Given the description of an element on the screen output the (x, y) to click on. 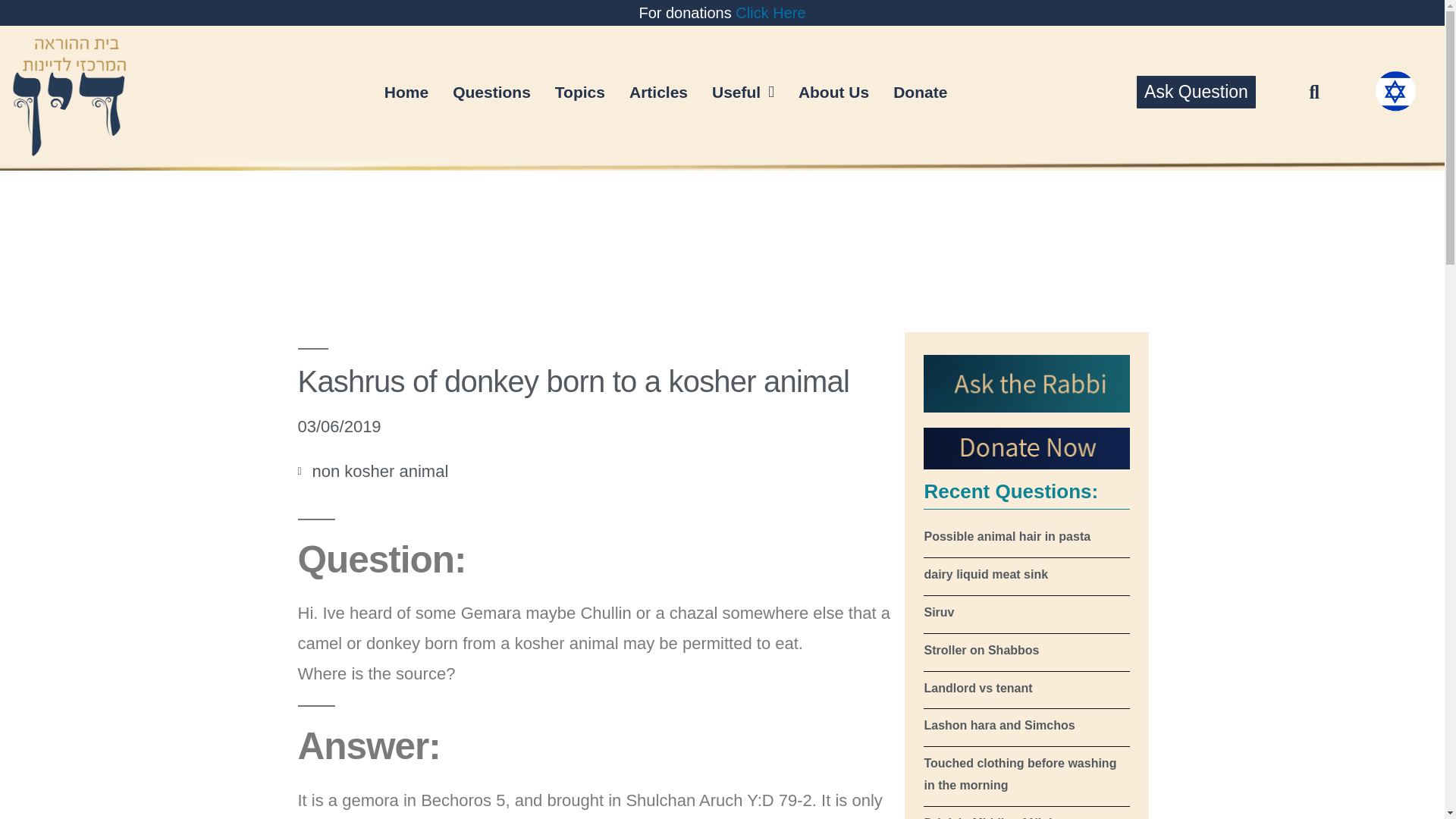
Home (406, 91)
Articles (658, 91)
Donate (919, 91)
Topics (580, 91)
Ask Question (1196, 92)
Questions (492, 91)
About Us (833, 91)
non kosher animal (380, 470)
Useful (743, 91)
